Given the description of an element on the screen output the (x, y) to click on. 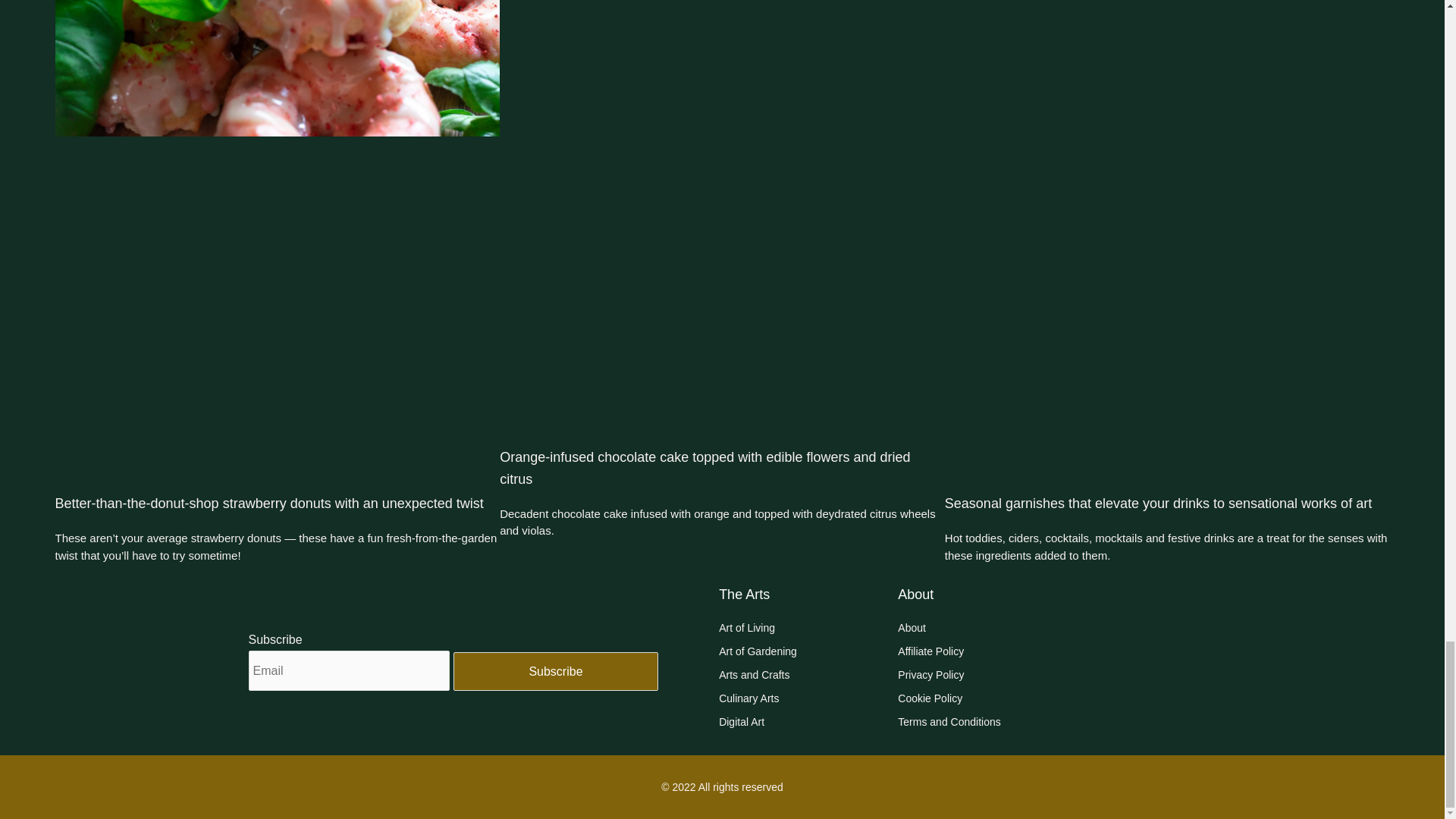
About (1045, 628)
Arts and Crafts (808, 675)
Digital Art (808, 722)
Subscribe (555, 671)
Art of Gardening (808, 651)
Culinary Arts (808, 699)
Art of Living (808, 628)
